Given the description of an element on the screen output the (x, y) to click on. 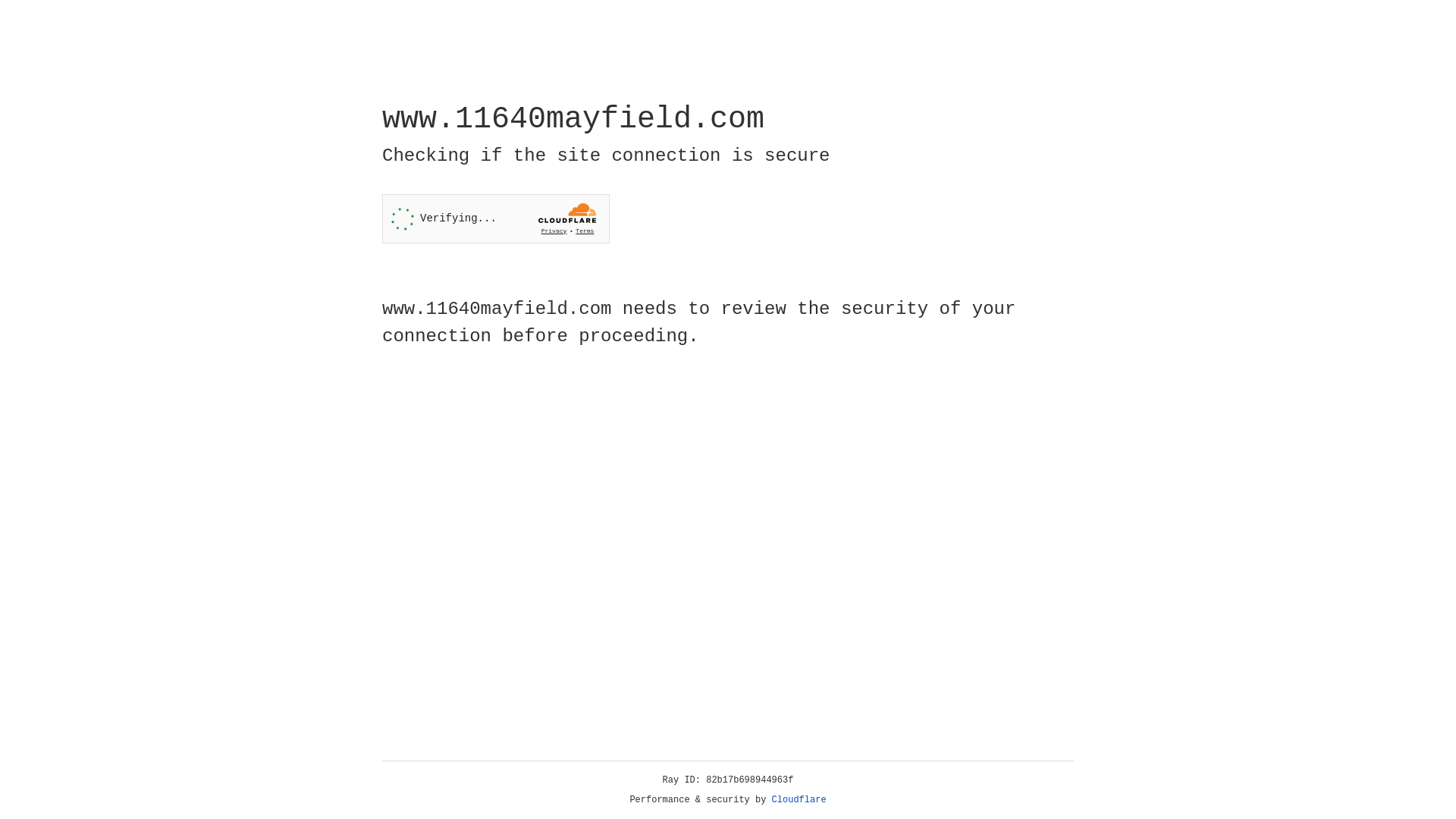
Widget containing a Cloudflare security challenge Element type: hover (495, 218)
Cloudflare Element type: text (798, 799)
